Given the description of an element on the screen output the (x, y) to click on. 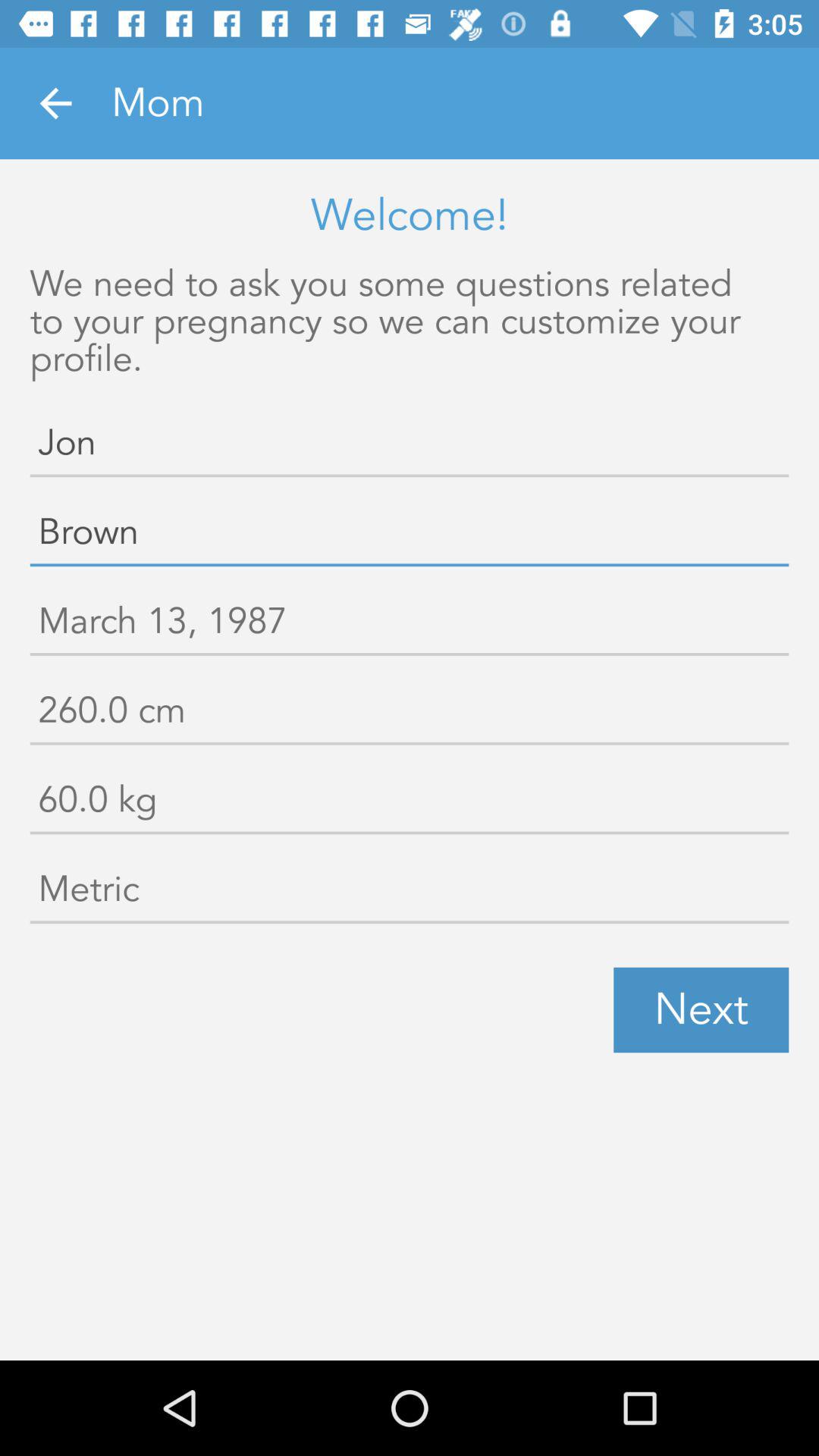
turn on the icon at the top left corner (55, 103)
